Given the description of an element on the screen output the (x, y) to click on. 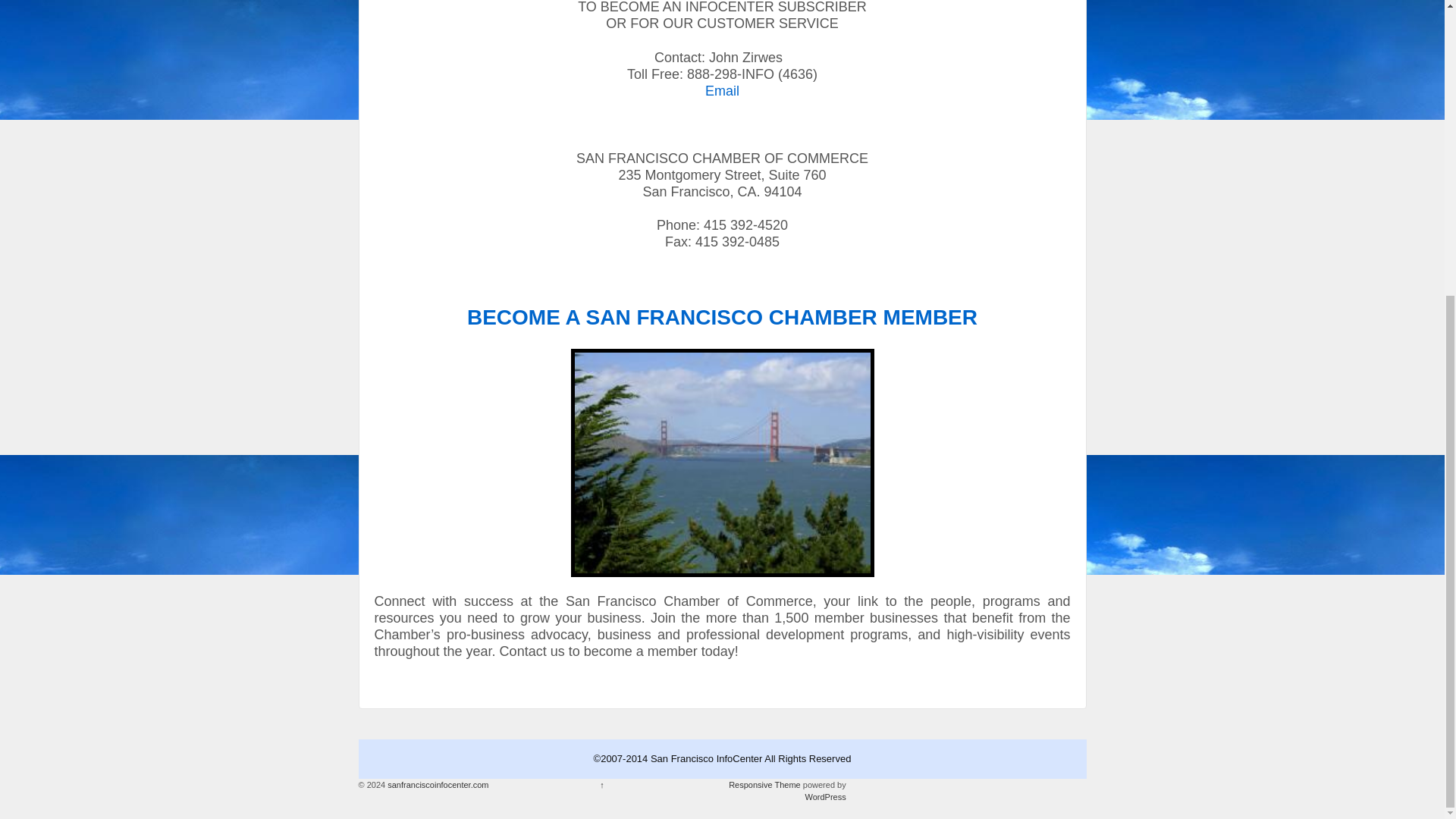
WordPress (825, 796)
WordPress (825, 796)
Responsive Theme (764, 784)
Email (721, 91)
sanfranciscoinfocenter.com (436, 784)
sanfranciscoinfocenter.com (436, 784)
Responsive Theme (764, 784)
BECOME A SAN FRANCISCO CHAMBER MEMBER (721, 314)
